Given the description of an element on the screen output the (x, y) to click on. 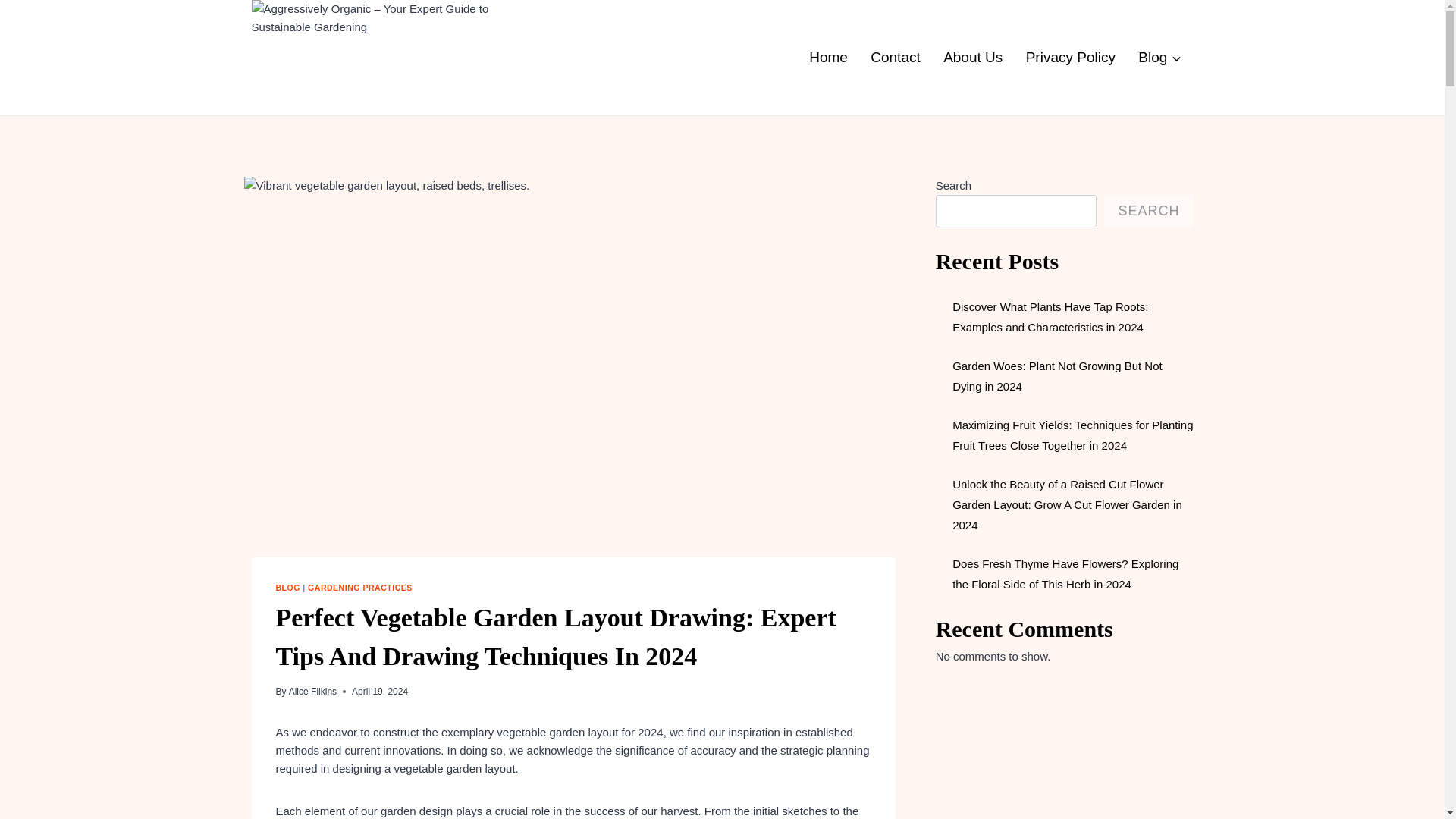
BLOG (287, 587)
Home (828, 56)
GARDENING PRACTICES (359, 587)
Contact (895, 56)
Alice Filkins (312, 691)
About Us (972, 56)
Privacy Policy (1069, 56)
Blog (1159, 56)
